Given the description of an element on the screen output the (x, y) to click on. 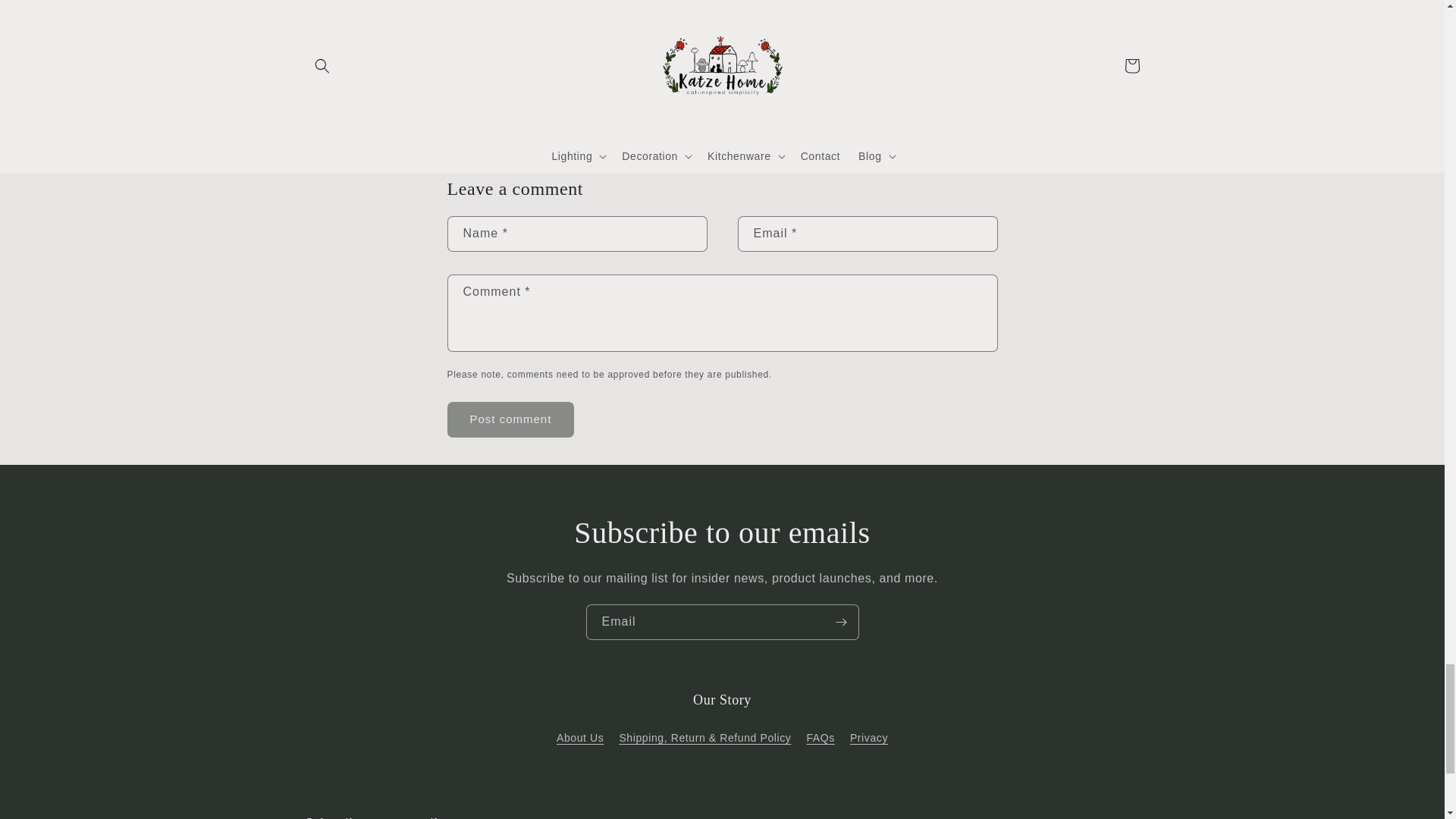
Post comment (510, 419)
